Given the description of an element on the screen output the (x, y) to click on. 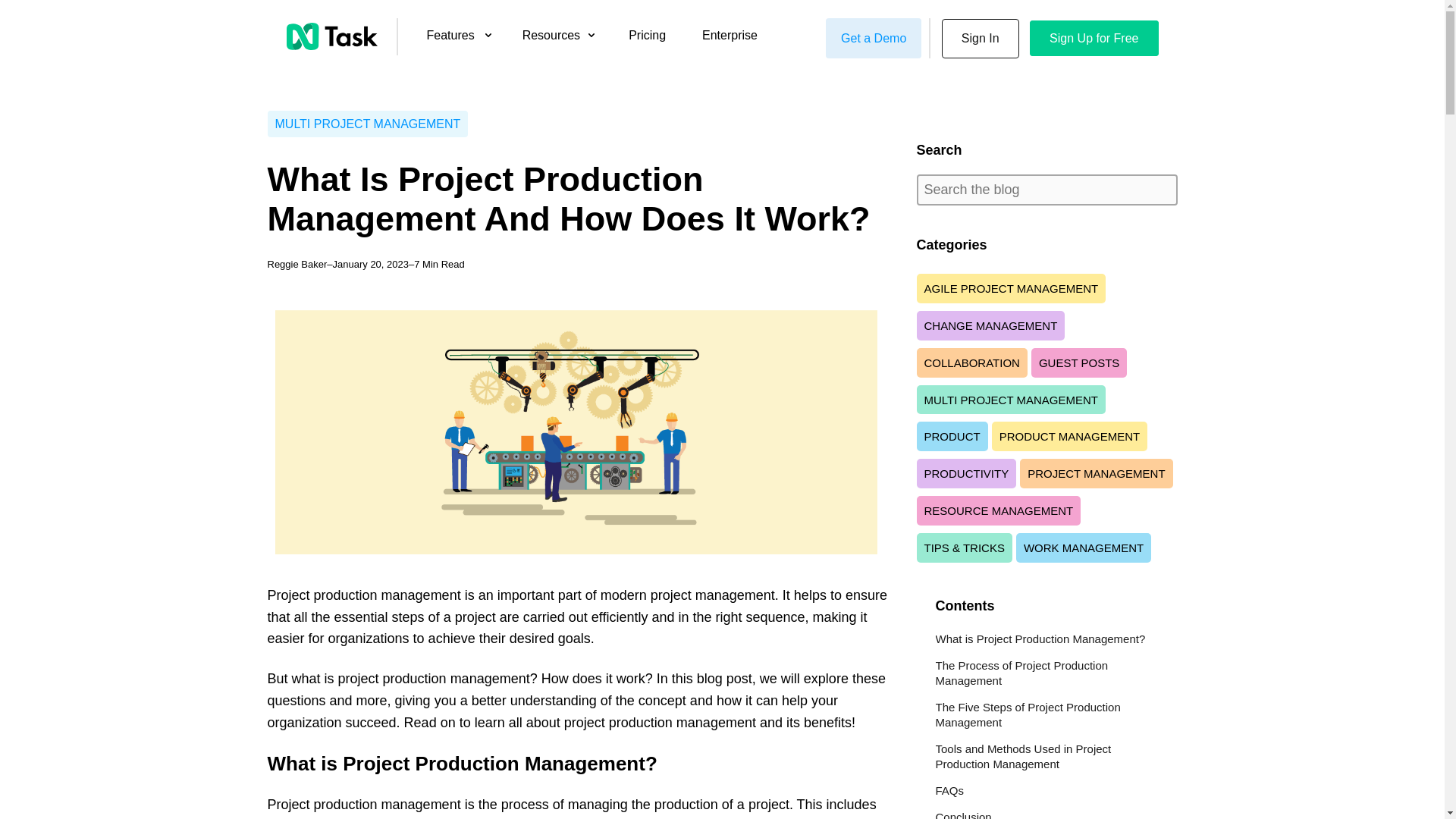
Get a Demo (873, 38)
Pricing (646, 40)
Enterprise (729, 40)
Sign In (980, 38)
Resources (550, 40)
Sign Up for Free (1093, 38)
Features (450, 40)
MULTI PROJECT MANAGEMENT (367, 123)
